Given the description of an element on the screen output the (x, y) to click on. 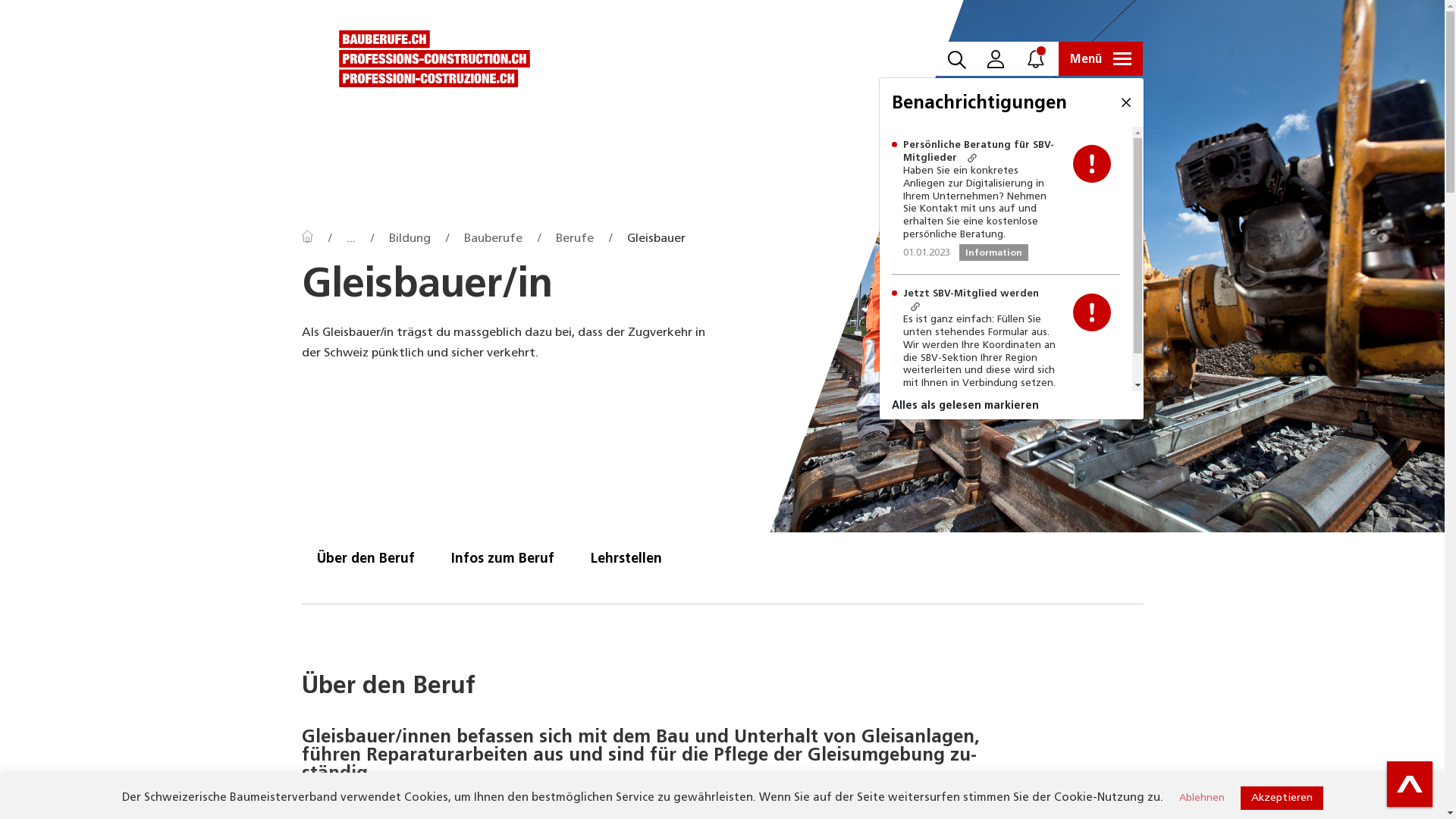
... Element type: text (349, 237)
Alles als gelesen markieren Element type: text (1011, 405)
Schweizerischer Baumeisterverband Element type: hover (434, 58)
Infos zum Beruf Element type: text (501, 558)
Ablehnen Element type: text (1201, 797)
Akzeptieren Element type: text (1281, 797)
